Given the description of an element on the screen output the (x, y) to click on. 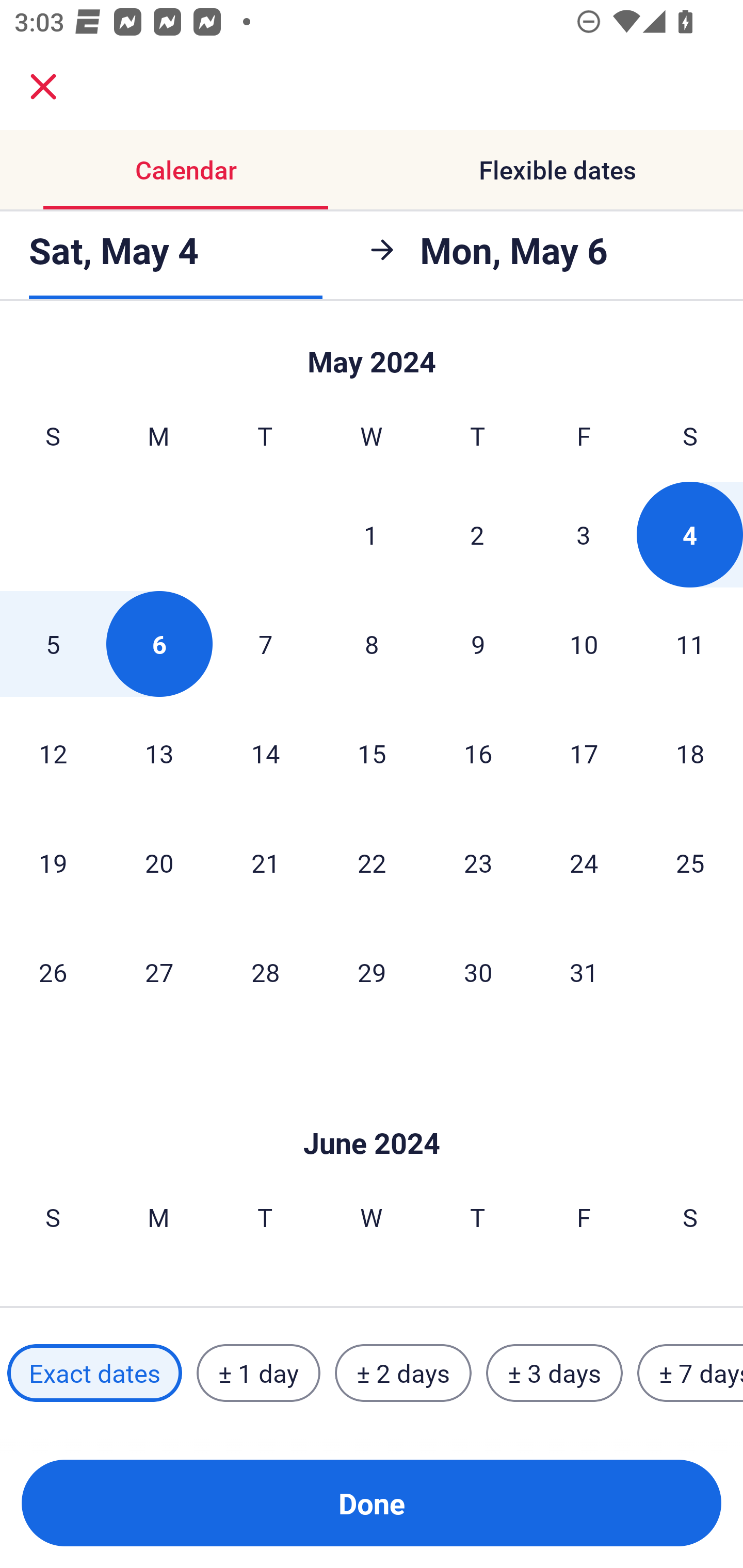
close. (43, 86)
Flexible dates (557, 170)
Skip to Done (371, 352)
1 Wednesday, May 1, 2024 (371, 534)
2 Thursday, May 2, 2024 (477, 534)
3 Friday, May 3, 2024 (583, 534)
7 Tuesday, May 7, 2024 (265, 643)
8 Wednesday, May 8, 2024 (371, 643)
9 Thursday, May 9, 2024 (477, 643)
10 Friday, May 10, 2024 (584, 643)
11 Saturday, May 11, 2024 (690, 643)
12 Sunday, May 12, 2024 (53, 752)
13 Monday, May 13, 2024 (159, 752)
14 Tuesday, May 14, 2024 (265, 752)
15 Wednesday, May 15, 2024 (371, 752)
16 Thursday, May 16, 2024 (477, 752)
17 Friday, May 17, 2024 (584, 752)
18 Saturday, May 18, 2024 (690, 752)
19 Sunday, May 19, 2024 (53, 862)
20 Monday, May 20, 2024 (159, 862)
21 Tuesday, May 21, 2024 (265, 862)
22 Wednesday, May 22, 2024 (371, 862)
23 Thursday, May 23, 2024 (477, 862)
24 Friday, May 24, 2024 (584, 862)
25 Saturday, May 25, 2024 (690, 862)
26 Sunday, May 26, 2024 (53, 971)
27 Monday, May 27, 2024 (159, 971)
28 Tuesday, May 28, 2024 (265, 971)
29 Wednesday, May 29, 2024 (371, 971)
30 Thursday, May 30, 2024 (477, 971)
31 Friday, May 31, 2024 (584, 971)
Skip to Done (371, 1112)
Exact dates (94, 1372)
± 1 day (258, 1372)
± 2 days (403, 1372)
± 3 days (553, 1372)
± 7 days (690, 1372)
Done (371, 1502)
